Given the description of an element on the screen output the (x, y) to click on. 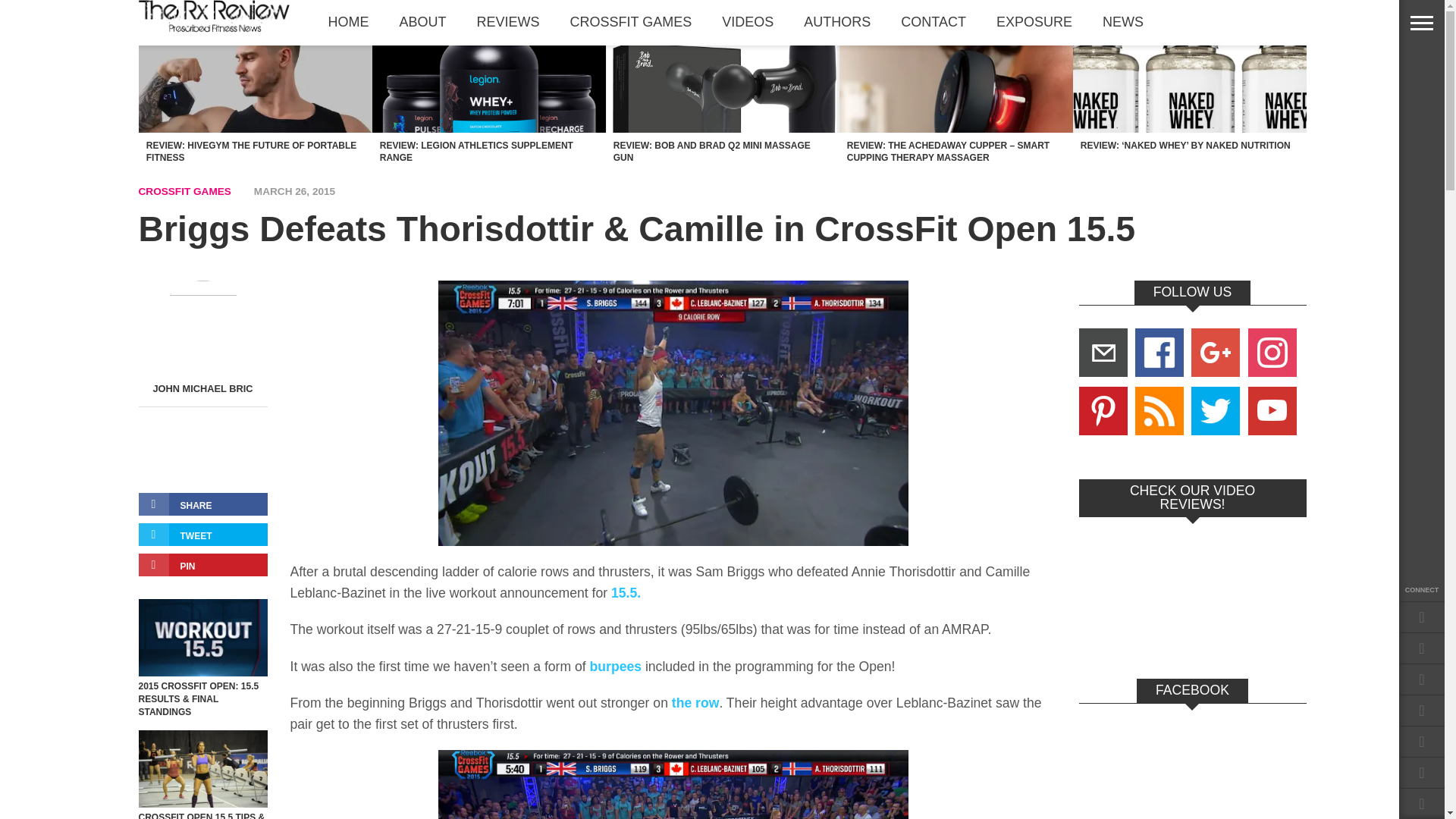
REVIEWS (507, 22)
Posts by John Michael Bric (201, 388)
HOME (348, 22)
Why Burpees Are Good For You (615, 666)
ABOUT (422, 22)
CROSSFIT GAMES (630, 22)
AUTHORS (837, 22)
burpees (615, 666)
NEWS (1122, 22)
15.5. (623, 592)
